Given the description of an element on the screen output the (x, y) to click on. 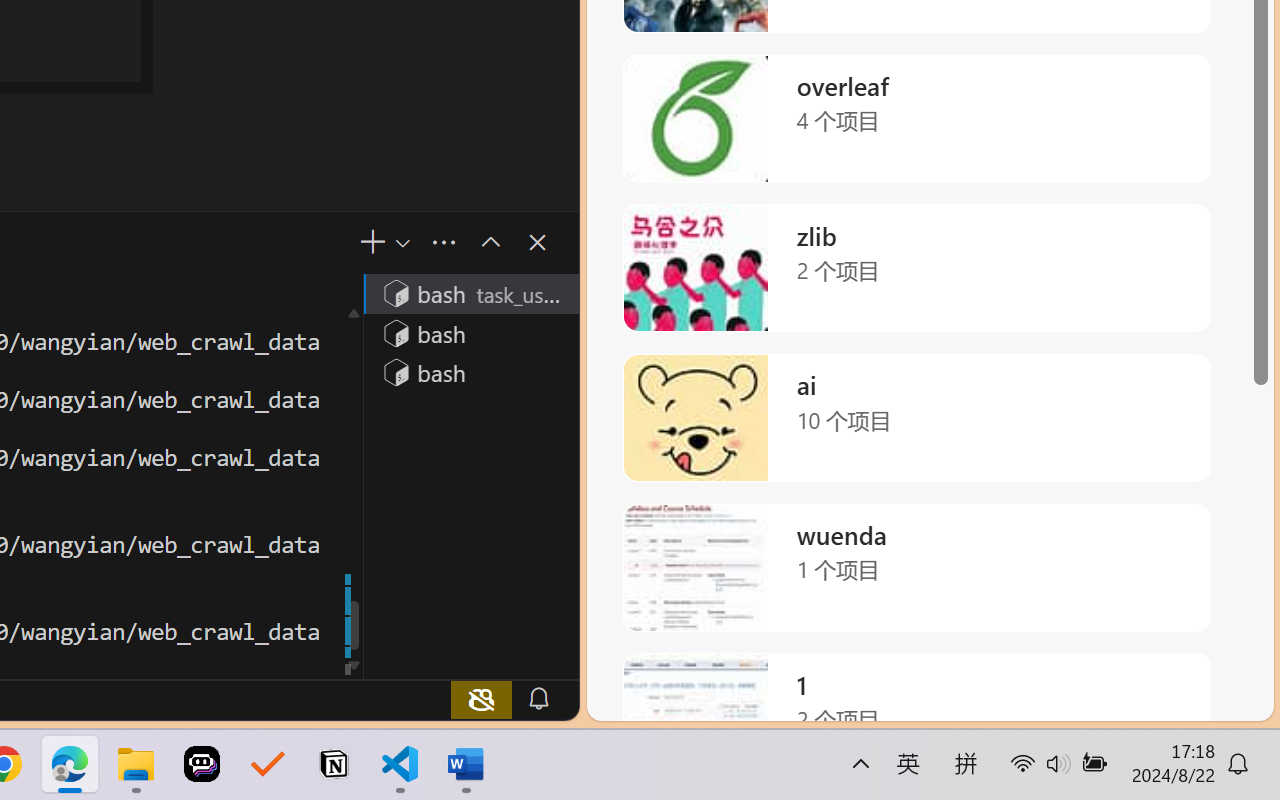
Class: xterm-decoration-overview-ruler (352, 486)
Class: actions-container (516, 242)
